Given the description of an element on the screen output the (x, y) to click on. 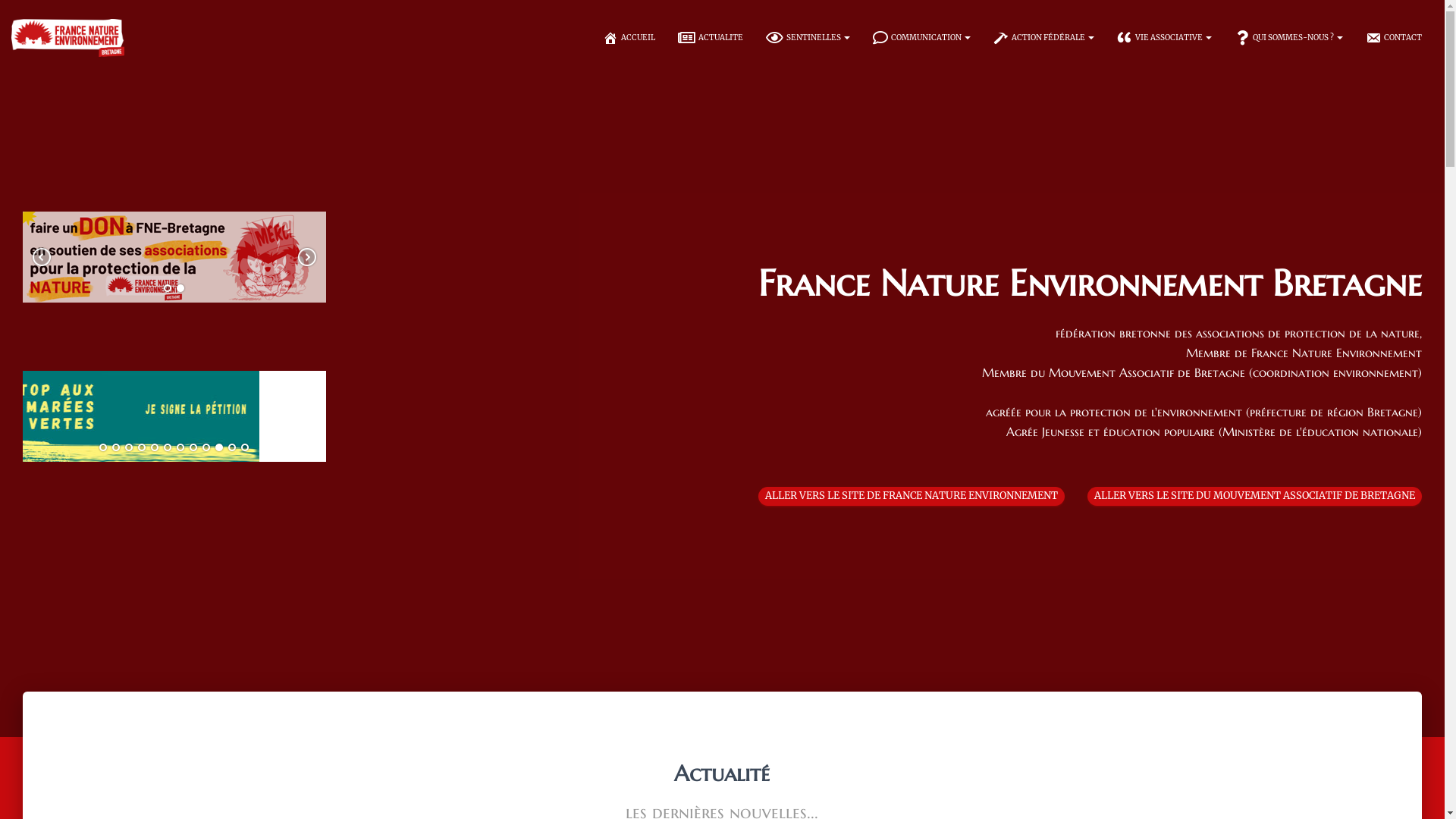
ACCUEIL Element type: text (628, 37)
COMMUNICATION Element type: text (921, 37)
ACTUALITE Element type: text (710, 37)
FNE-Bretagne Element type: hover (67, 37)
CONTACT Element type: text (1393, 37)
QUI SOMMES-NOUS ? Element type: text (1288, 37)
SENTINELLES Element type: text (807, 37)
ALLER VERS LE SITE DE FRANCE NATURE ENVIRONNEMENT Element type: text (911, 495)
VIE ASSOCIATIVE Element type: text (1164, 37)
ALLER VERS LE SITE DU MOUVEMENT ASSOCIATIF DE BRETAGNE Element type: text (1254, 495)
